Given the description of an element on the screen output the (x, y) to click on. 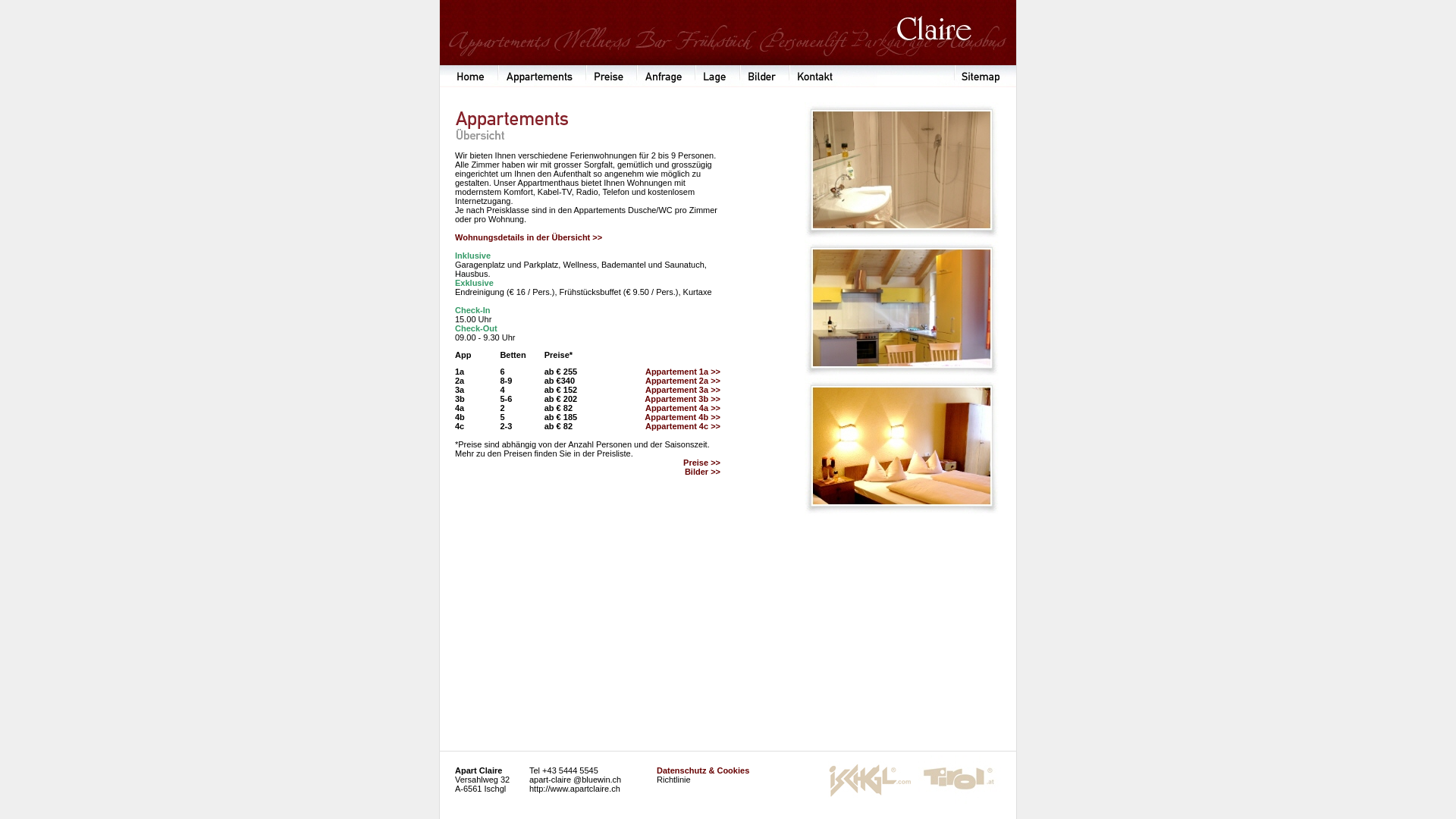
Preise >> Element type: text (701, 462)
Appartement 4c >> Element type: text (682, 425)
Appartement 1a >> Element type: text (682, 371)
Appartement 4a >> Element type: text (682, 407)
Appartement 3a >> Element type: text (682, 389)
Bilder >> Element type: text (702, 471)
Appartement 4b >> Element type: text (682, 416)
Datenschutz & Cookies Element type: text (702, 770)
Appartement 3b >> Element type: text (682, 398)
Appartement 2a >> Element type: text (682, 380)
